Given the description of an element on the screen output the (x, y) to click on. 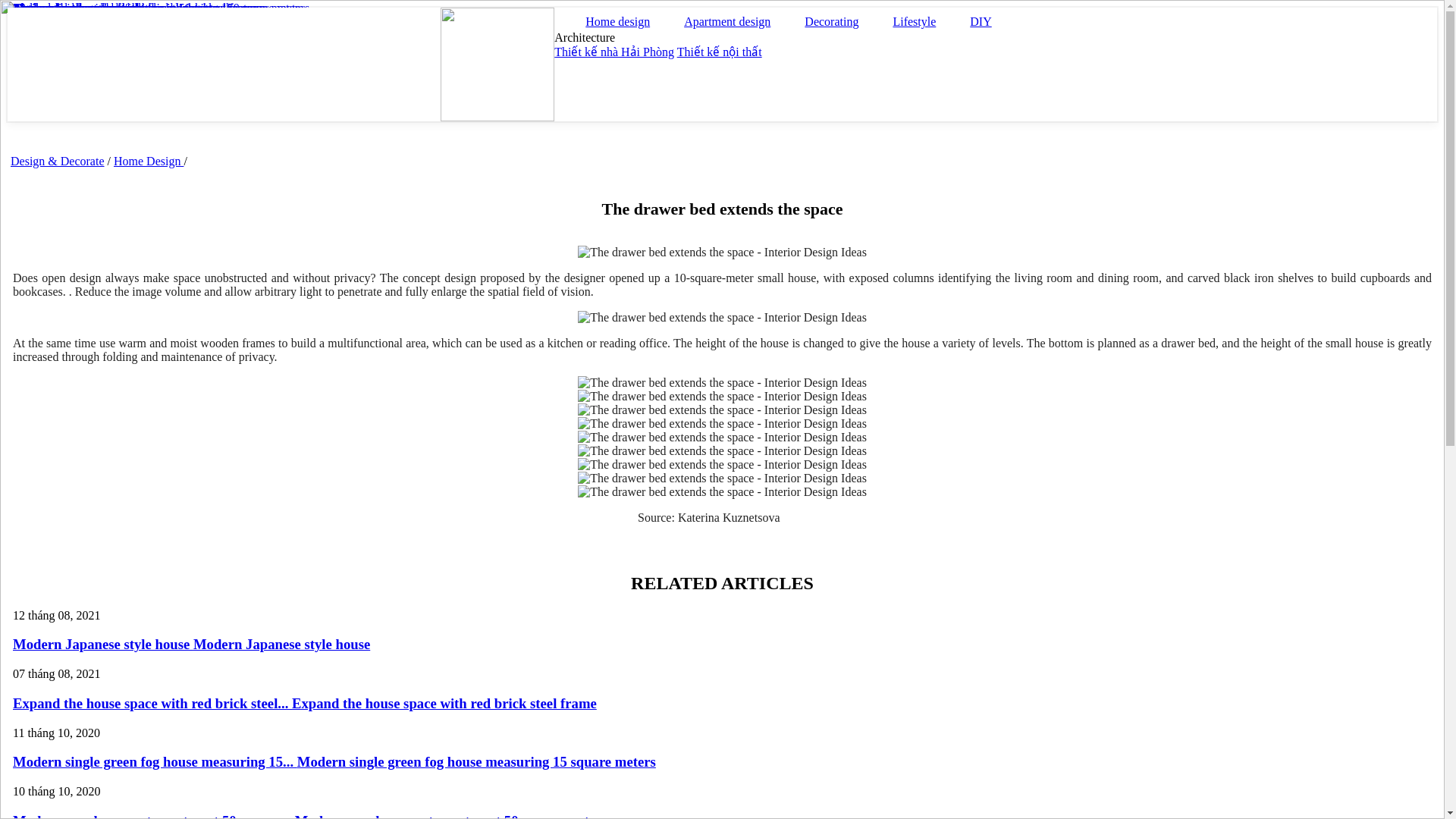
Modern Japanese style house Modern Japanese style house (191, 643)
Home Design (148, 160)
Home design (614, 18)
Decorating (828, 18)
Lifestyle (910, 18)
Apartment design (724, 18)
DIY (976, 18)
